Given the description of an element on the screen output the (x, y) to click on. 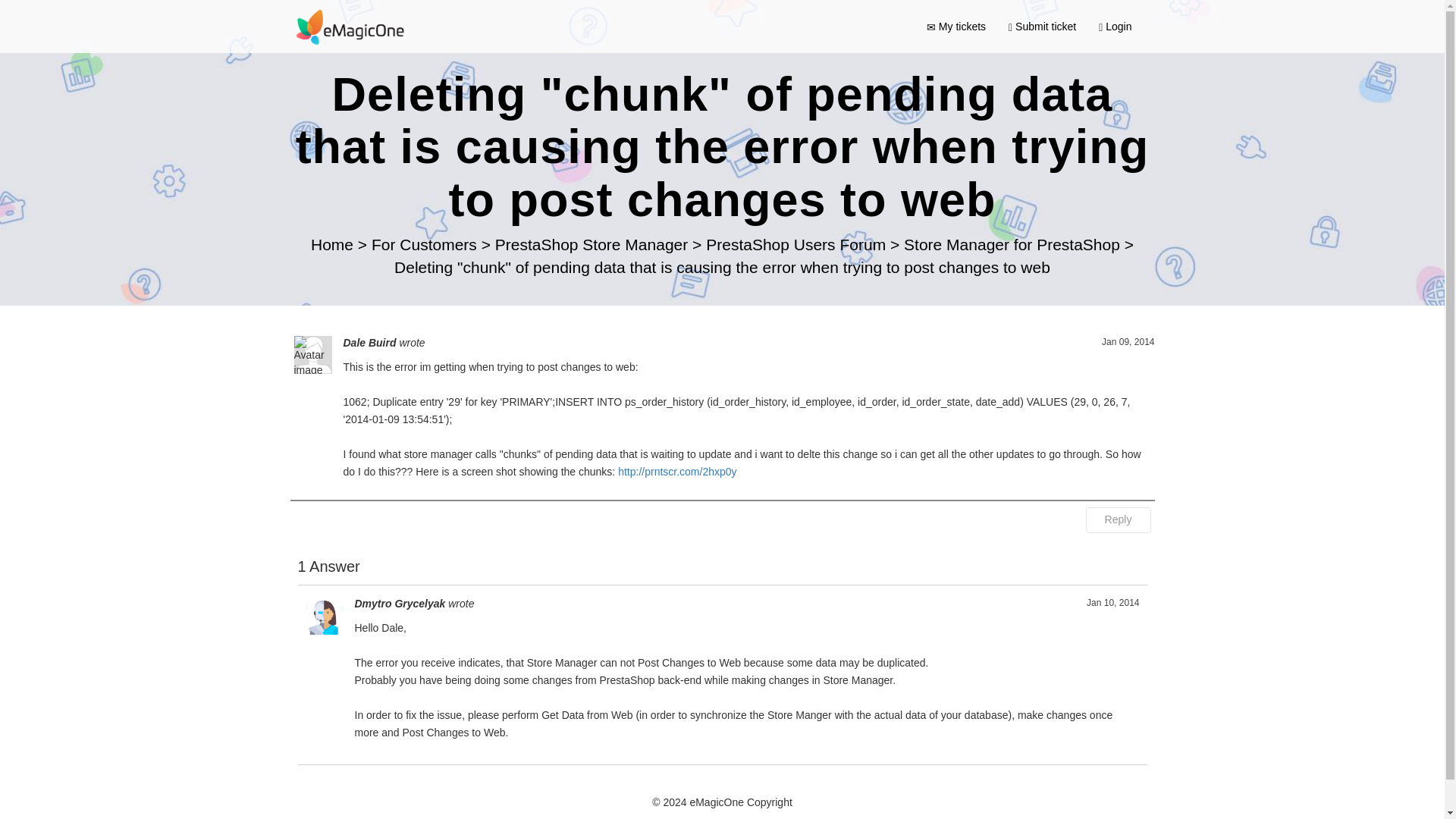
Jan 10, 2014, 08:03 AM (1112, 603)
Avatar image (323, 615)
Submit ticket (1042, 26)
Home (334, 244)
PrestaShop Store Manager (594, 244)
Store Manager for PrestaShop (1014, 244)
PrestaShop Users Forum (797, 244)
Login (1114, 26)
For Customers (426, 244)
My tickets (956, 26)
